Given the description of an element on the screen output the (x, y) to click on. 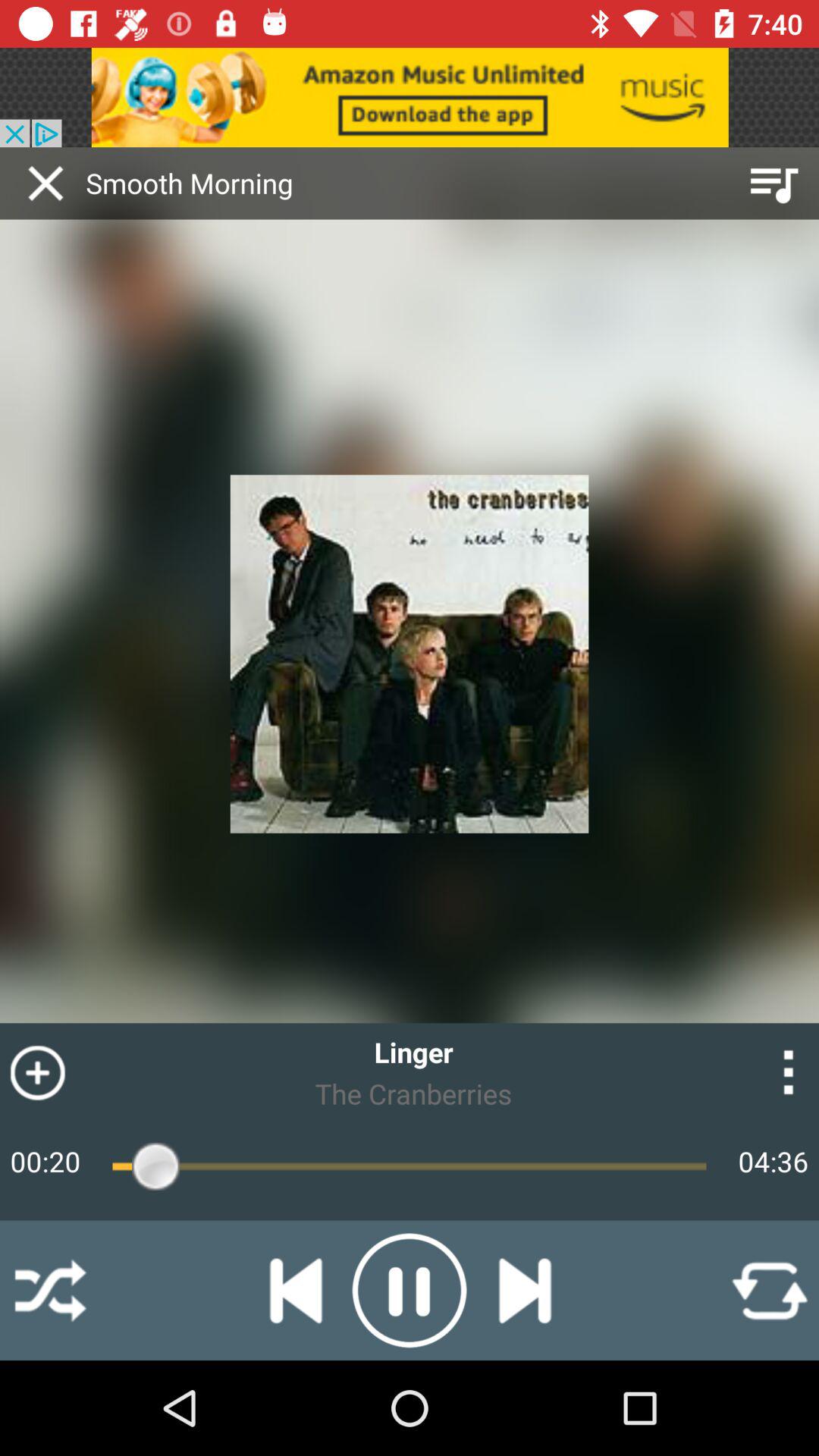
click on  symbol (65, 1042)
click on icon at bottom right corner (769, 1290)
